Given the description of an element on the screen output the (x, y) to click on. 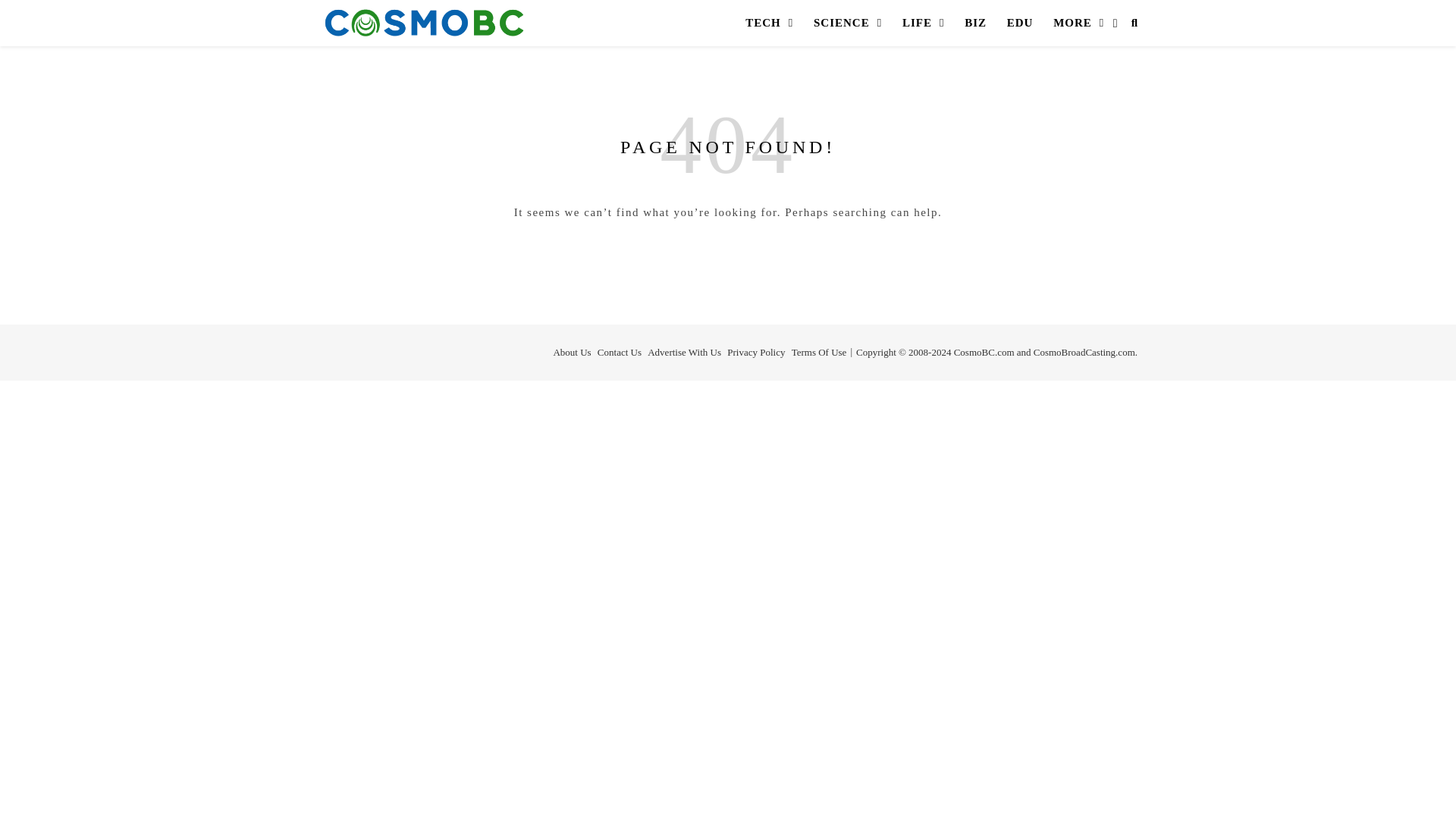
EDU (1019, 22)
LIFE (923, 22)
SCIENCE (847, 22)
MORE (1079, 22)
TECH (769, 22)
CosmoBC (424, 22)
